Given the description of an element on the screen output the (x, y) to click on. 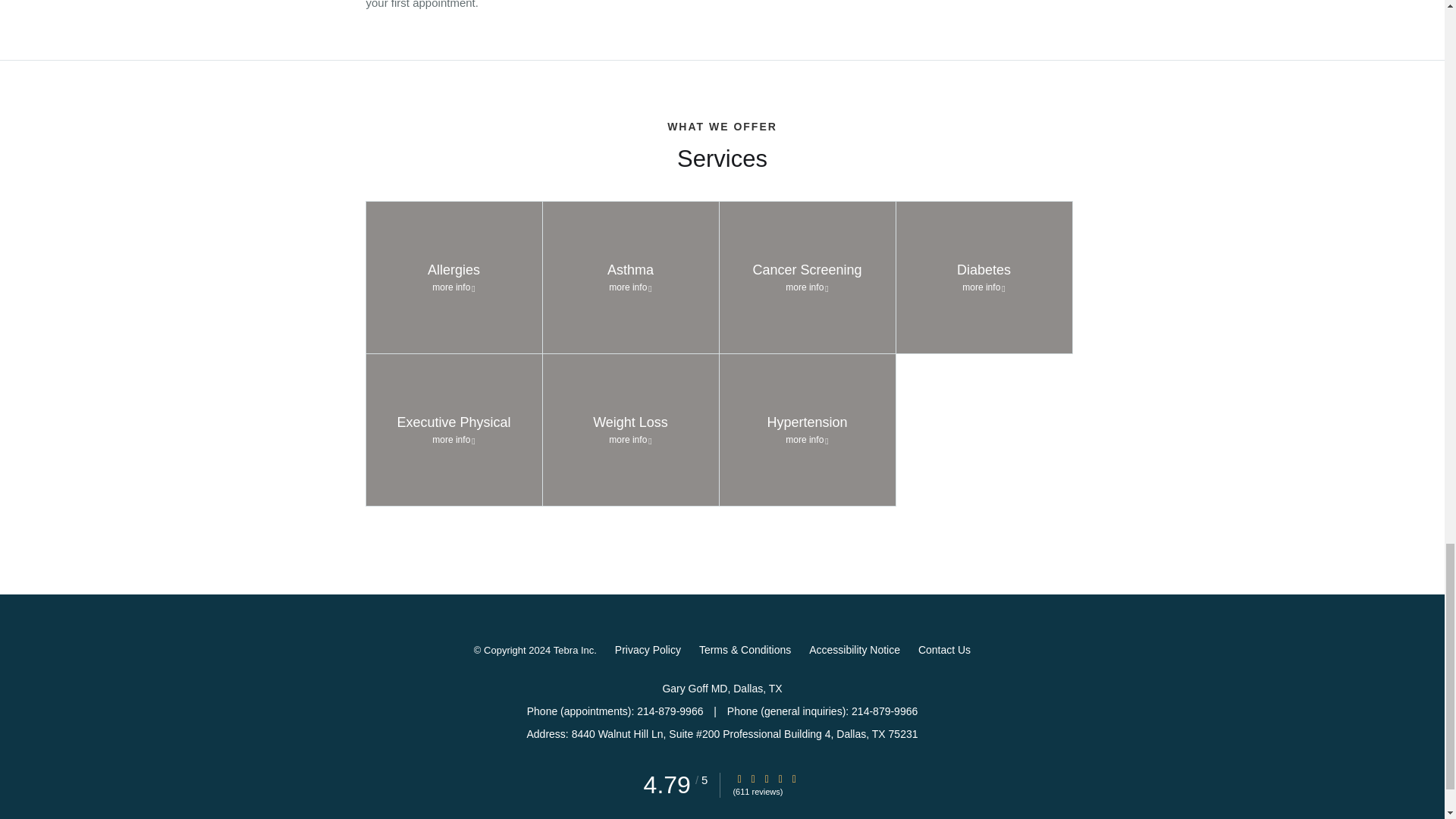
Star Rating (453, 276)
Contact Us (794, 778)
Privacy Policy (807, 276)
Tebra Inc (944, 649)
Star Rating (631, 276)
